Given the description of an element on the screen output the (x, y) to click on. 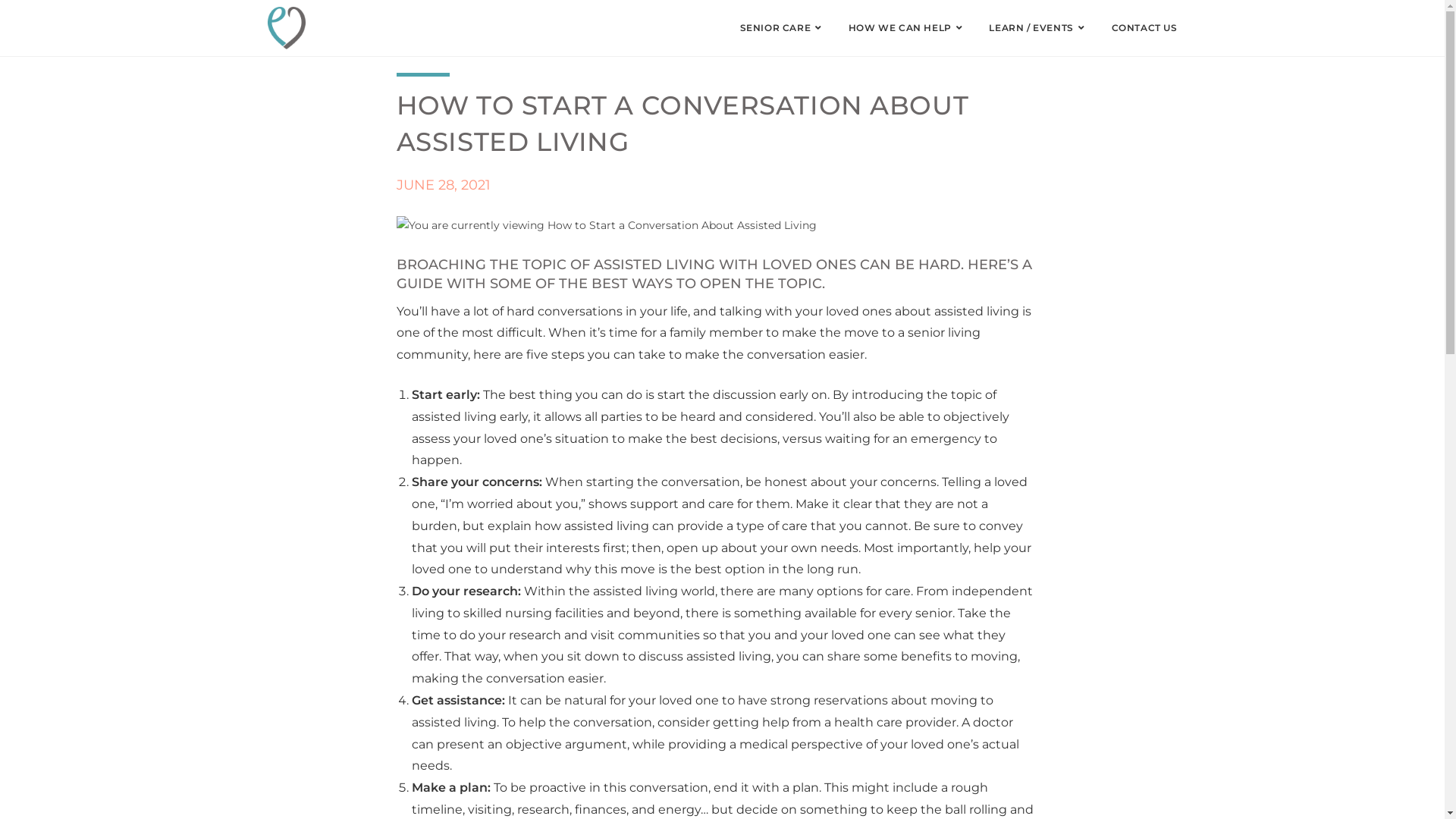
SENIOR CARE Element type: text (782, 28)
LEARN / EVENTS Element type: text (1038, 28)
HOW WE CAN HELP Element type: text (907, 28)
CONTACT US Element type: text (1143, 28)
